Given the description of an element on the screen output the (x, y) to click on. 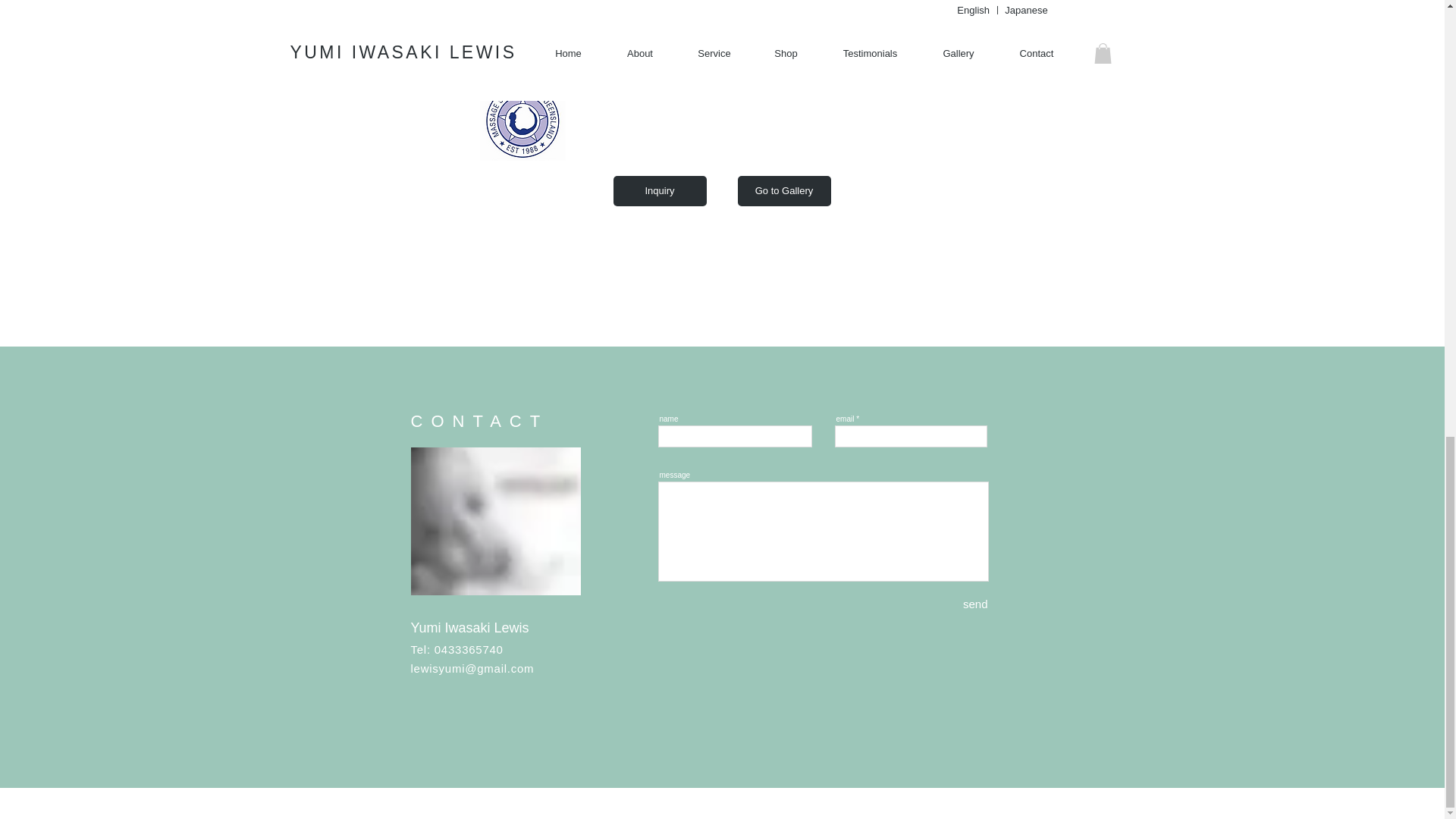
Inquiry (659, 191)
send (958, 604)
Go to Gallery (782, 191)
0433365740 (468, 649)
